Given the description of an element on the screen output the (x, y) to click on. 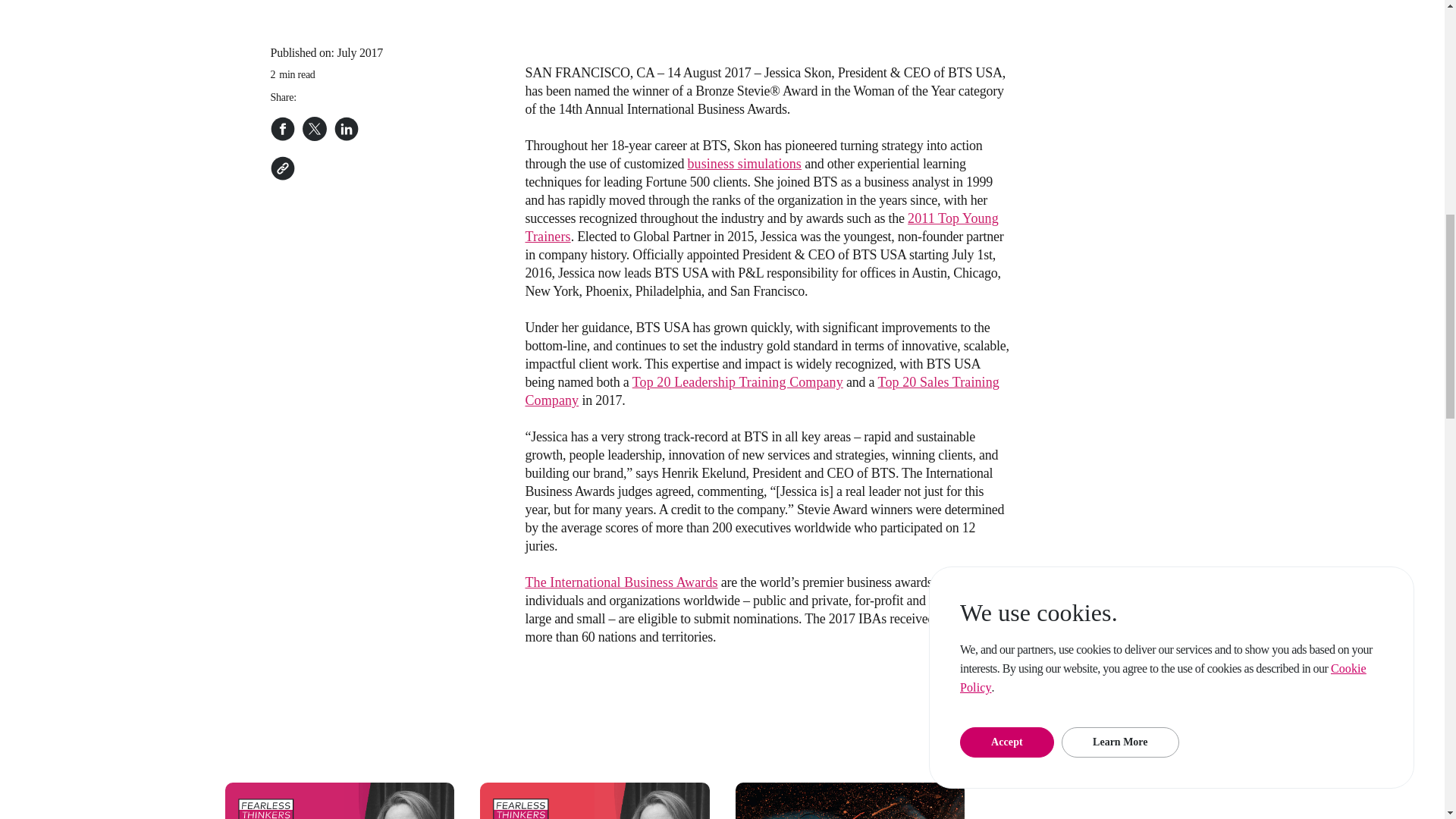
2011 Top Young Trainers (760, 227)
business simulations (744, 163)
